Given the description of an element on the screen output the (x, y) to click on. 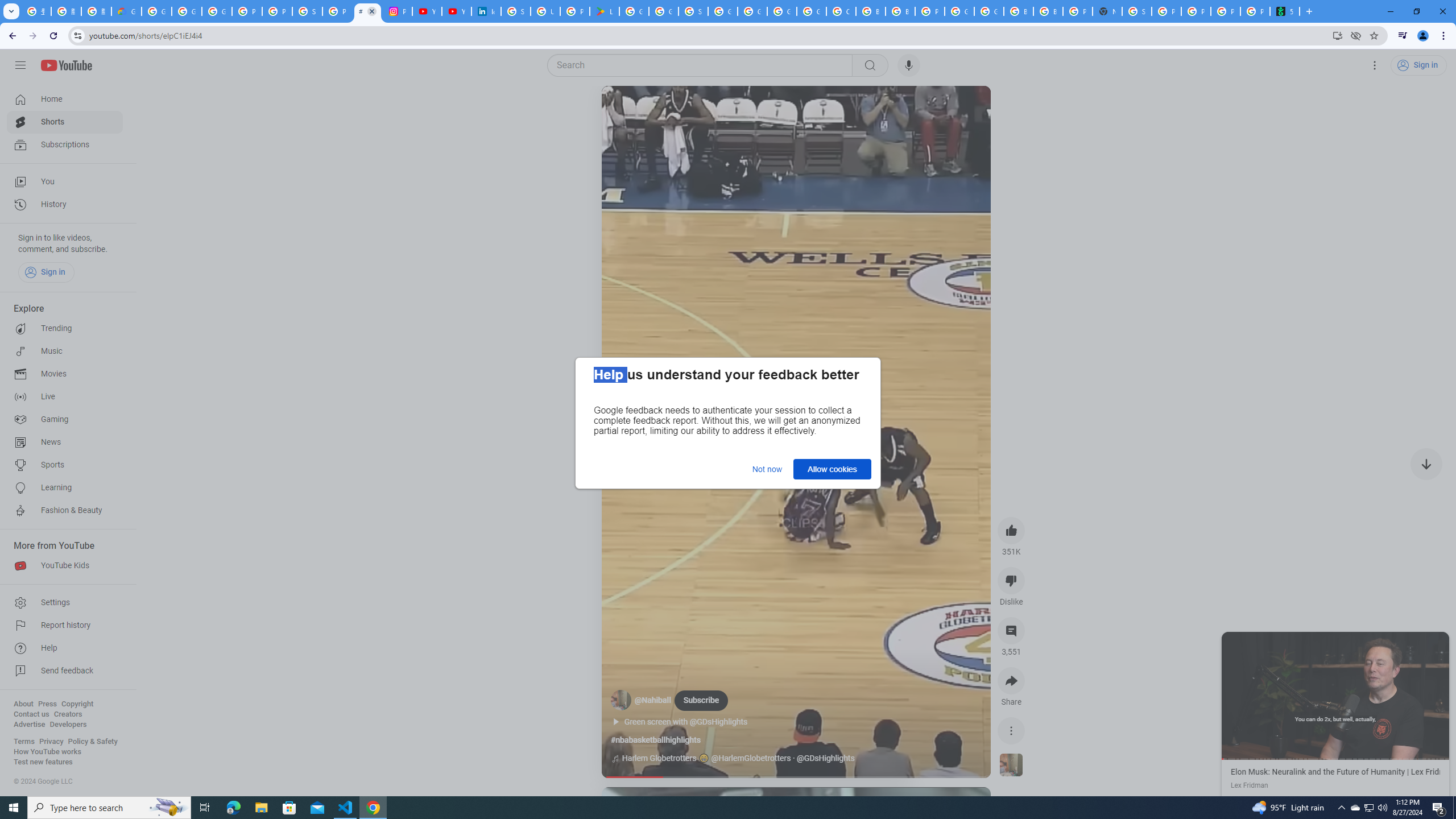
Allow cookies (831, 468)
Subscriptions (64, 144)
music icon (615, 758)
Google Cloud Platform (989, 11)
Fashion & Beauty (64, 510)
News (64, 441)
Movies (64, 373)
Gaming (64, 419)
Privacy Checkup (1224, 11)
